Given the description of an element on the screen output the (x, y) to click on. 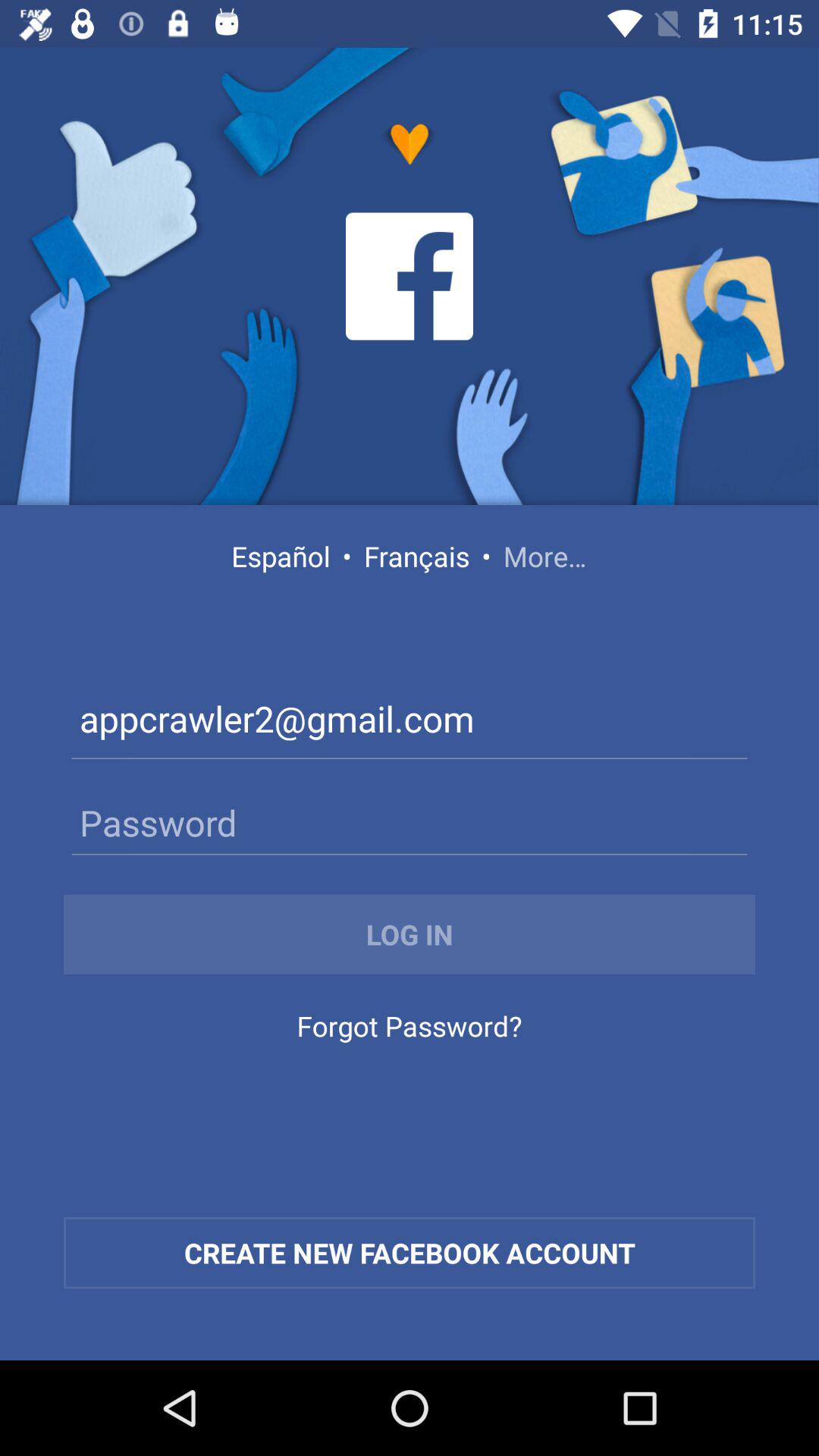
open icon above the log in item (409, 822)
